Given the description of an element on the screen output the (x, y) to click on. 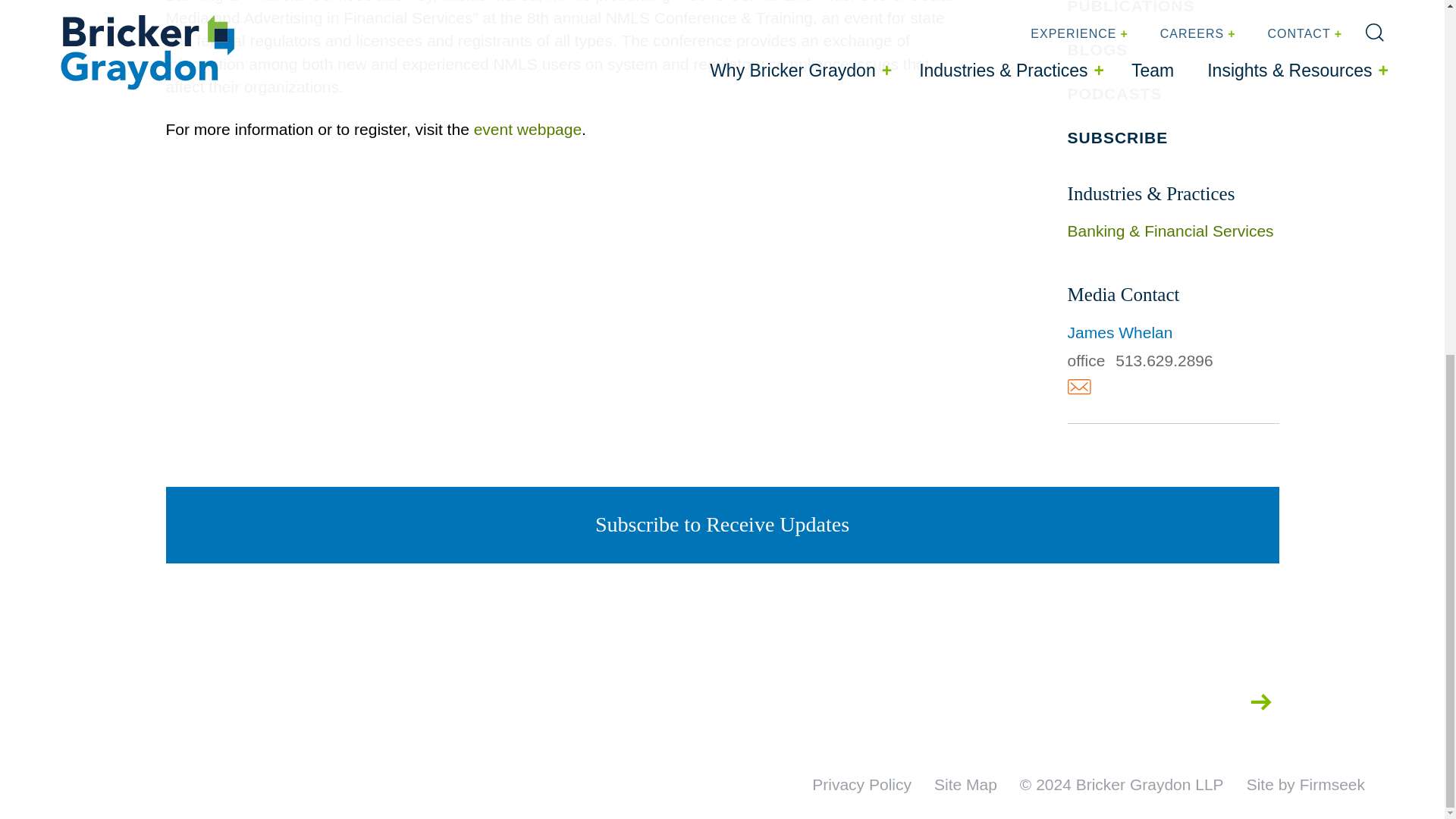
Facebook (1120, 701)
Twitter (1026, 701)
Email (1078, 386)
Youtube (1213, 701)
Instagram (1075, 701)
Linkedin (1164, 701)
